Given the description of an element on the screen output the (x, y) to click on. 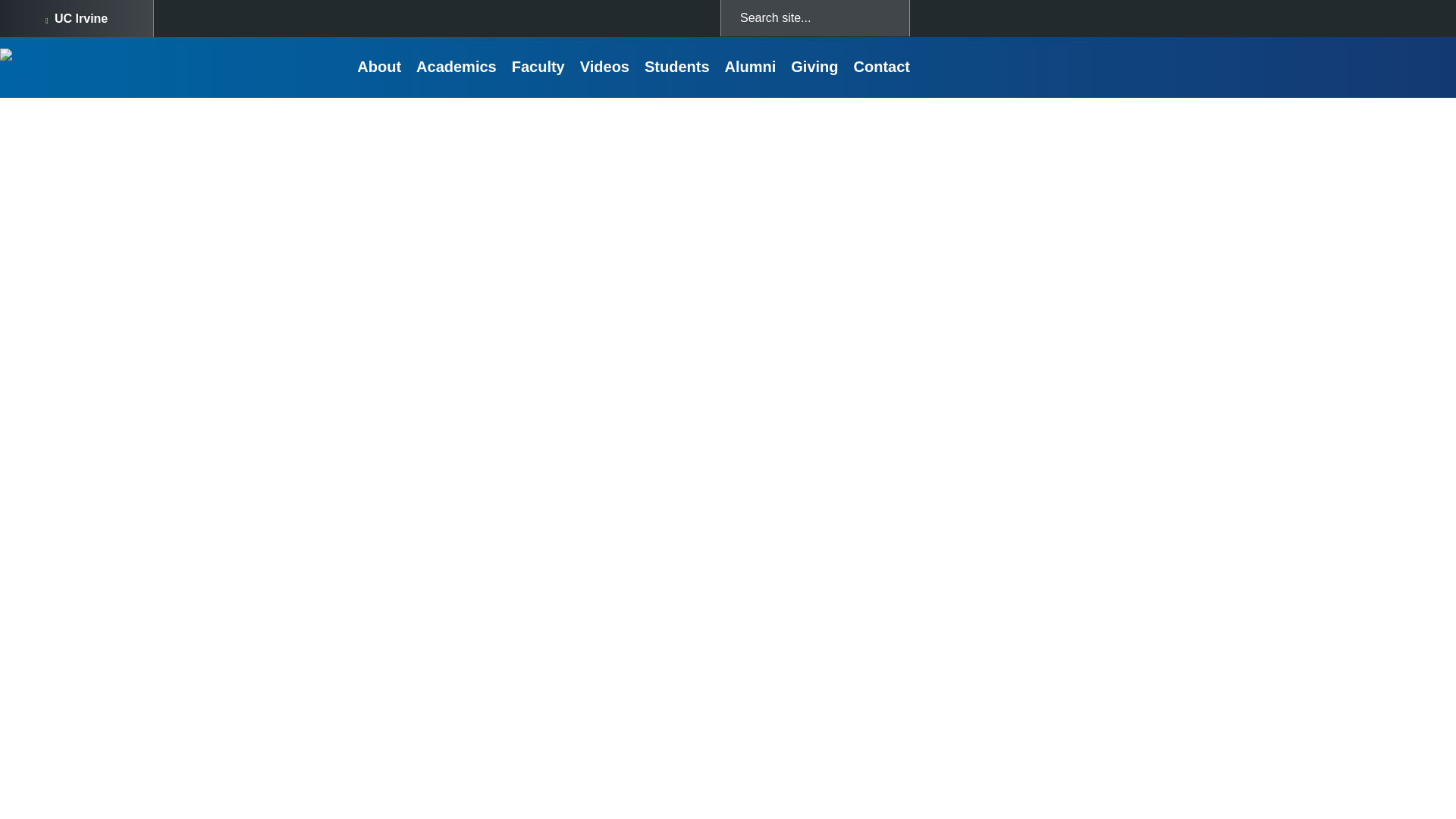
Faculty (538, 66)
UC Irvine (76, 18)
Alumni (750, 66)
Academics (456, 66)
